Given the description of an element on the screen output the (x, y) to click on. 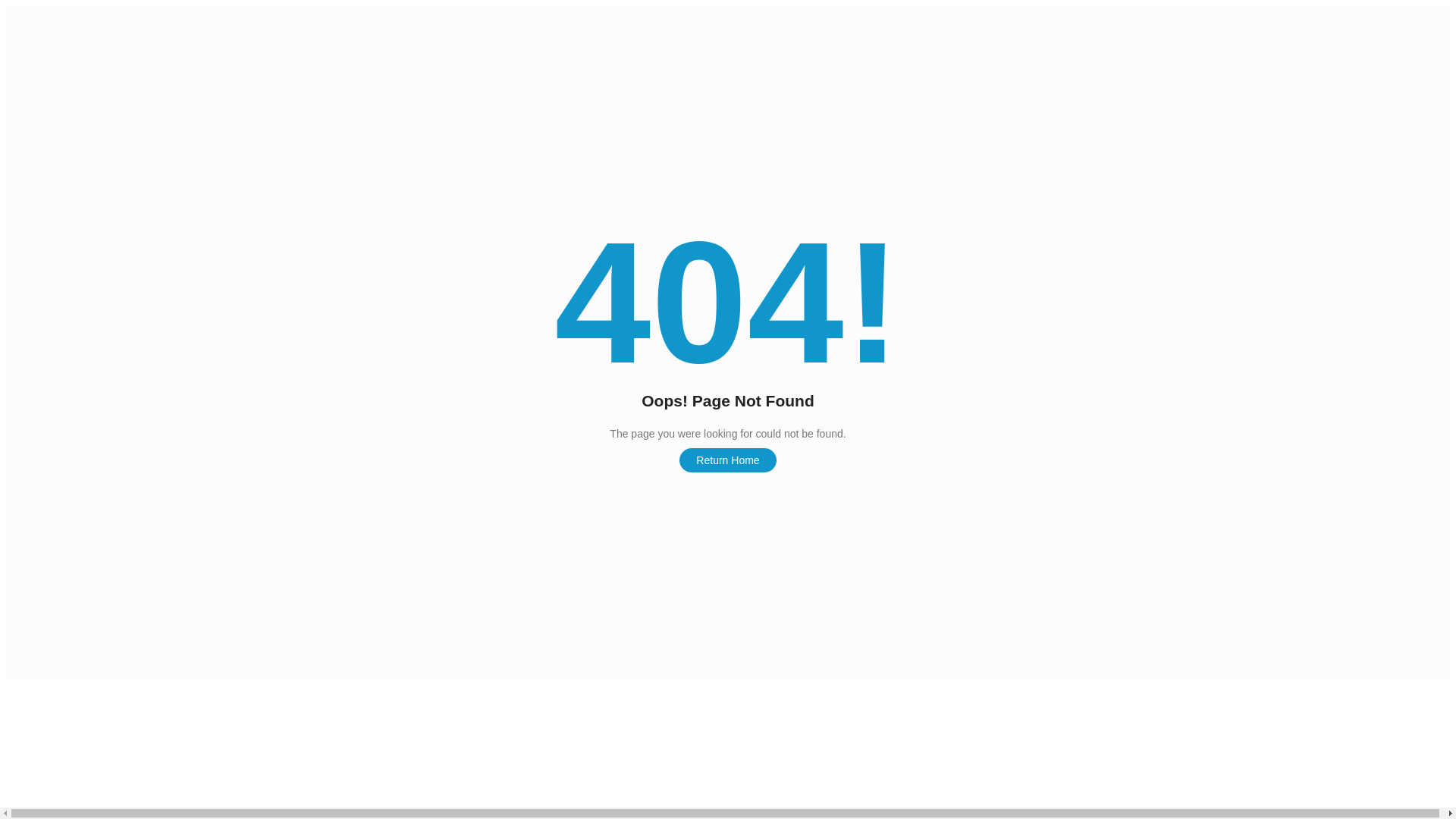
Return Home Element type: text (727, 460)
